Given the description of an element on the screen output the (x, y) to click on. 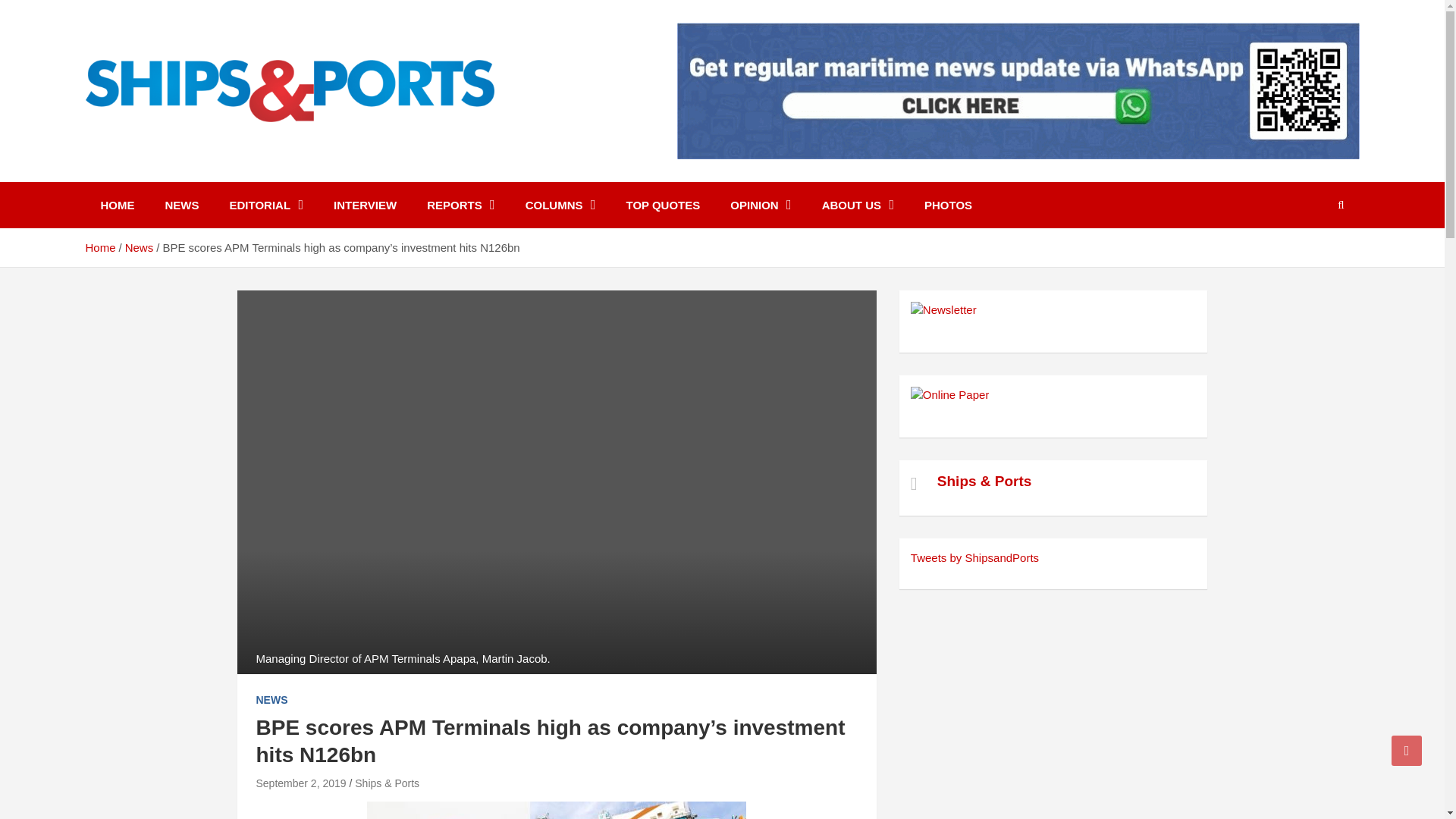
ABOUT US (857, 204)
News (139, 246)
COLUMNS (561, 204)
Home (99, 246)
TOP QUOTES (662, 204)
Go to Top (1406, 750)
INTERVIEW (365, 204)
HOME (116, 204)
REPORTS (461, 204)
NEWS (181, 204)
